Given the description of an element on the screen output the (x, y) to click on. 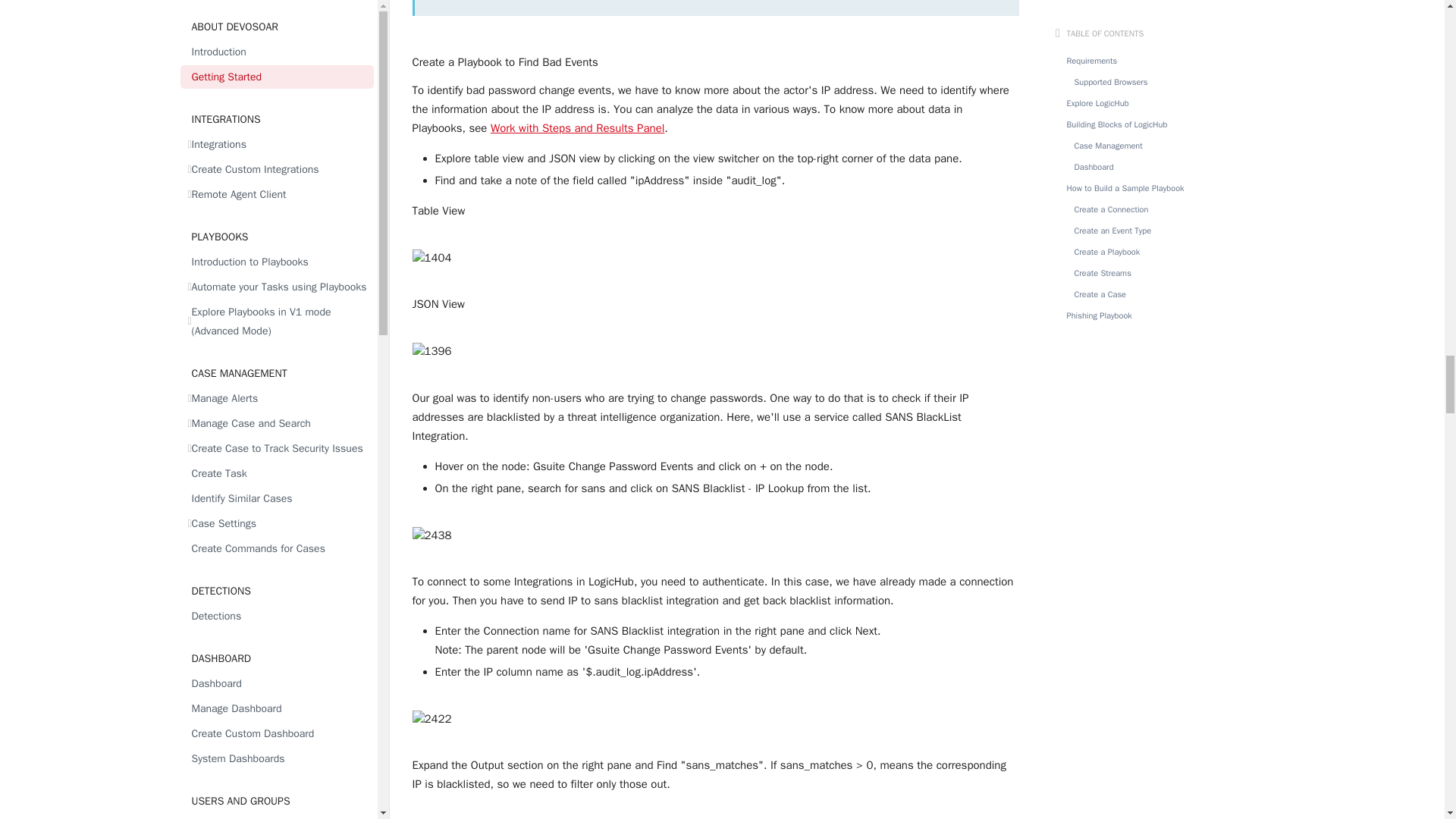
SANS-Node.png (715, 535)
Table-View.png (715, 257)
SANS-IP-Address.png (715, 718)
Create a Playbook to Find Bad Events (715, 62)
JSON-View.png (715, 351)
